Given the description of an element on the screen output the (x, y) to click on. 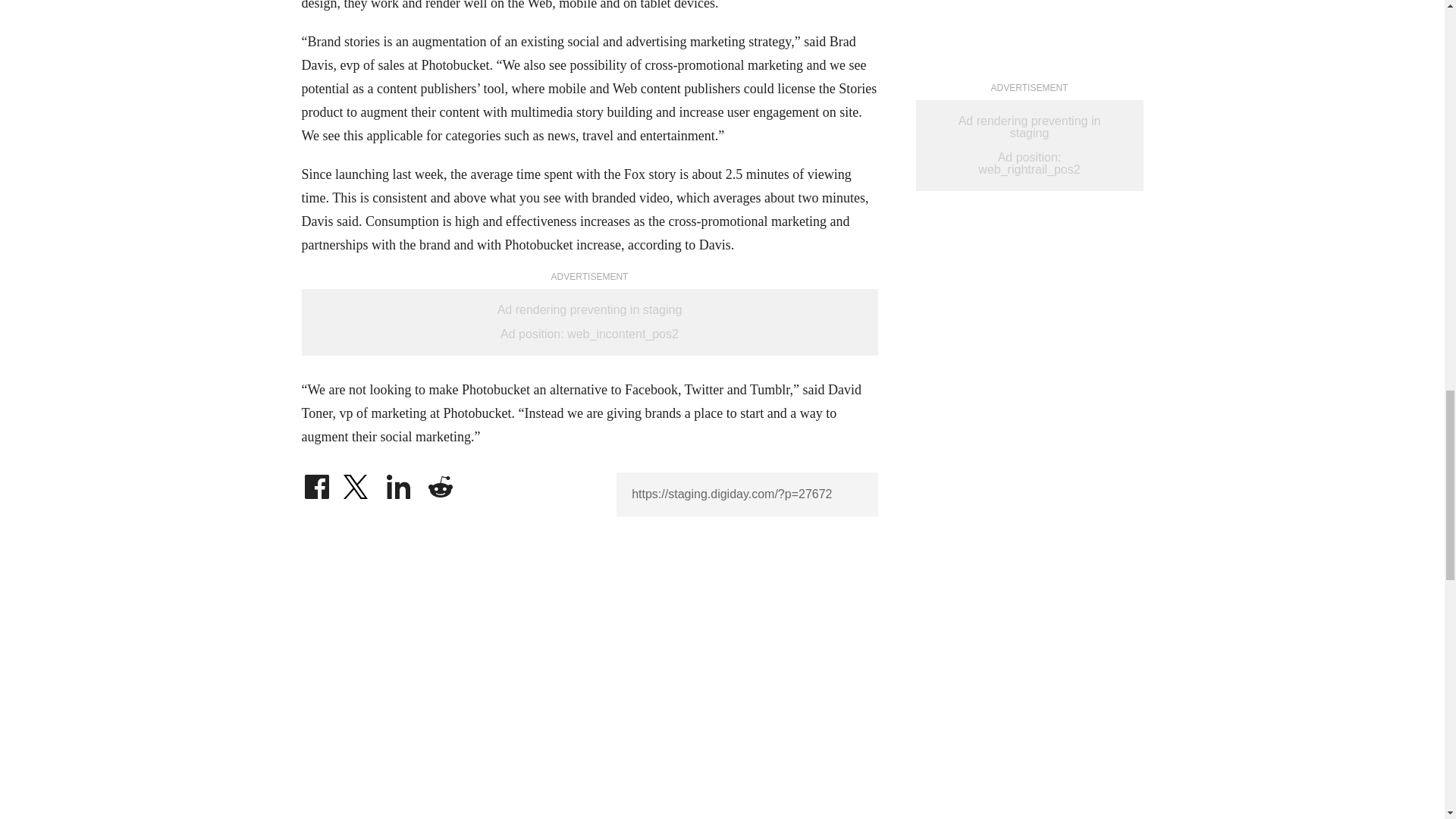
Share on Reddit (440, 482)
Share on Facebook (316, 482)
Share on Twitter (357, 482)
Share on LinkedIn (398, 482)
